Given the description of an element on the screen output the (x, y) to click on. 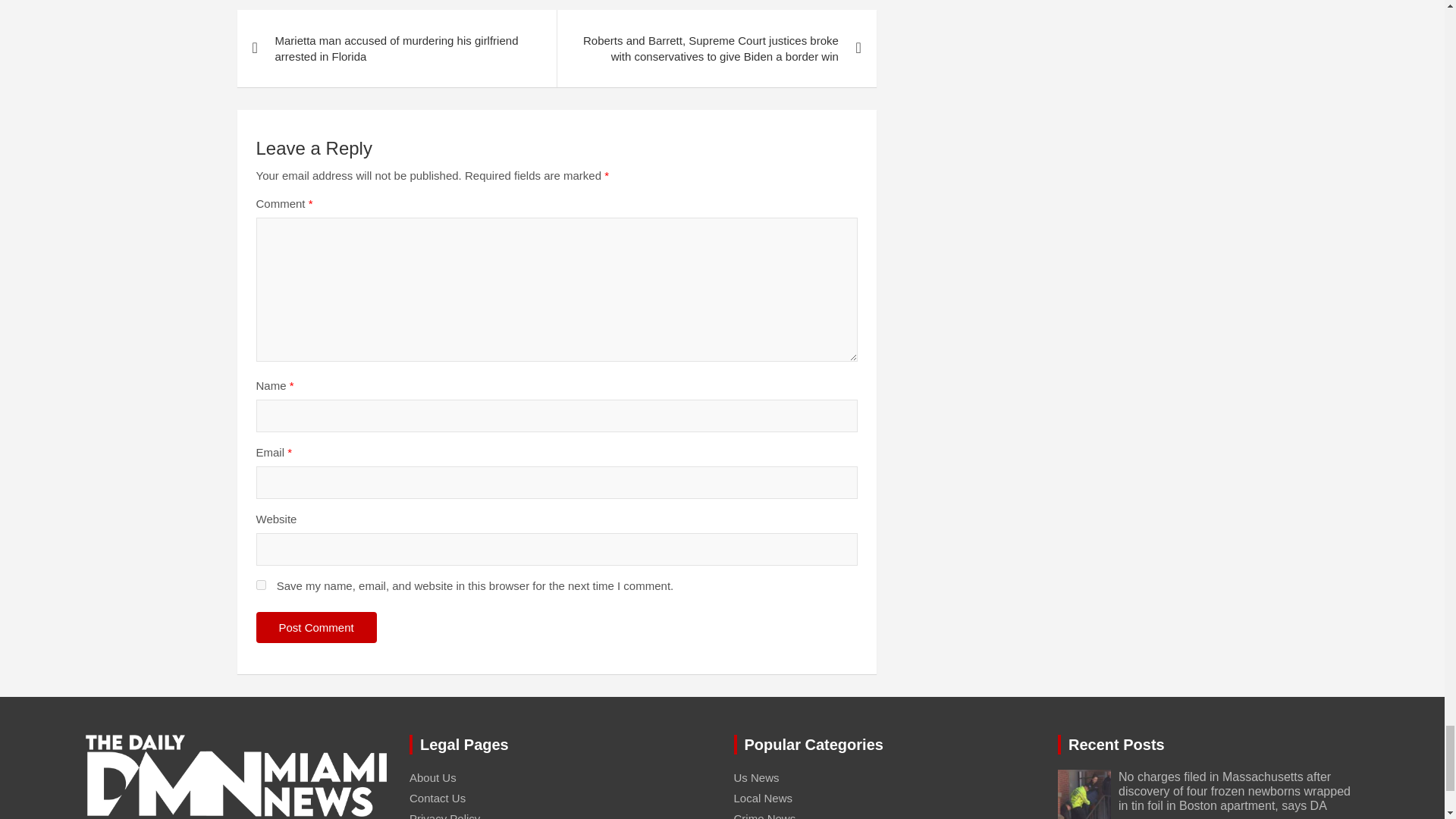
Post Comment (316, 626)
Post Comment (316, 626)
yes (261, 584)
